Given the description of an element on the screen output the (x, y) to click on. 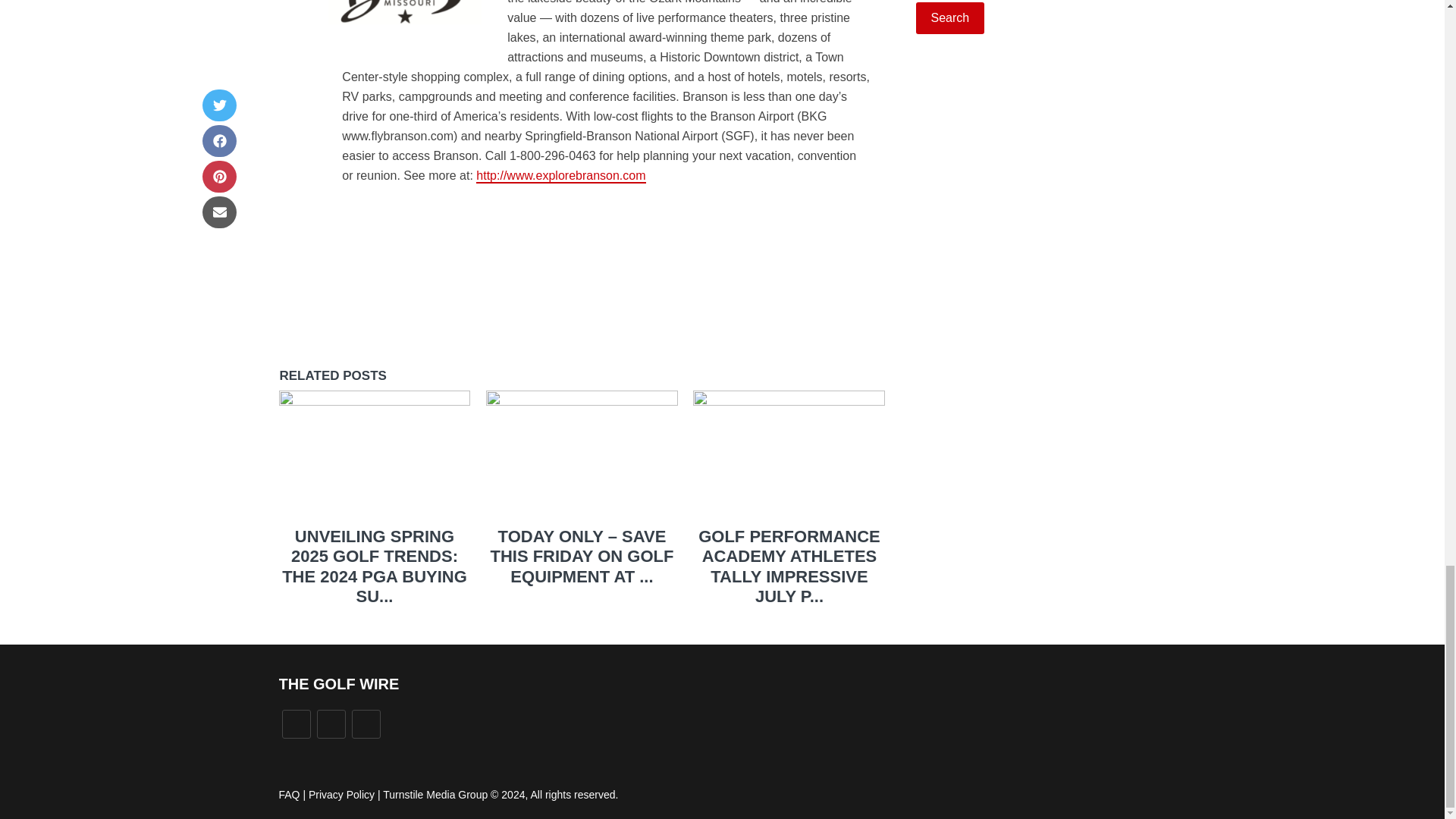
Search (950, 18)
GOLF PERFORMANCE ACADEMY ATHLETES TALLY IMPRESSIVE JULY P... (789, 566)
UNVEILING SPRING 2025 GOLF TRENDS: THE 2024 PGA BUYING SU... (374, 566)
Search (950, 18)
Search (950, 18)
